Given the description of an element on the screen output the (x, y) to click on. 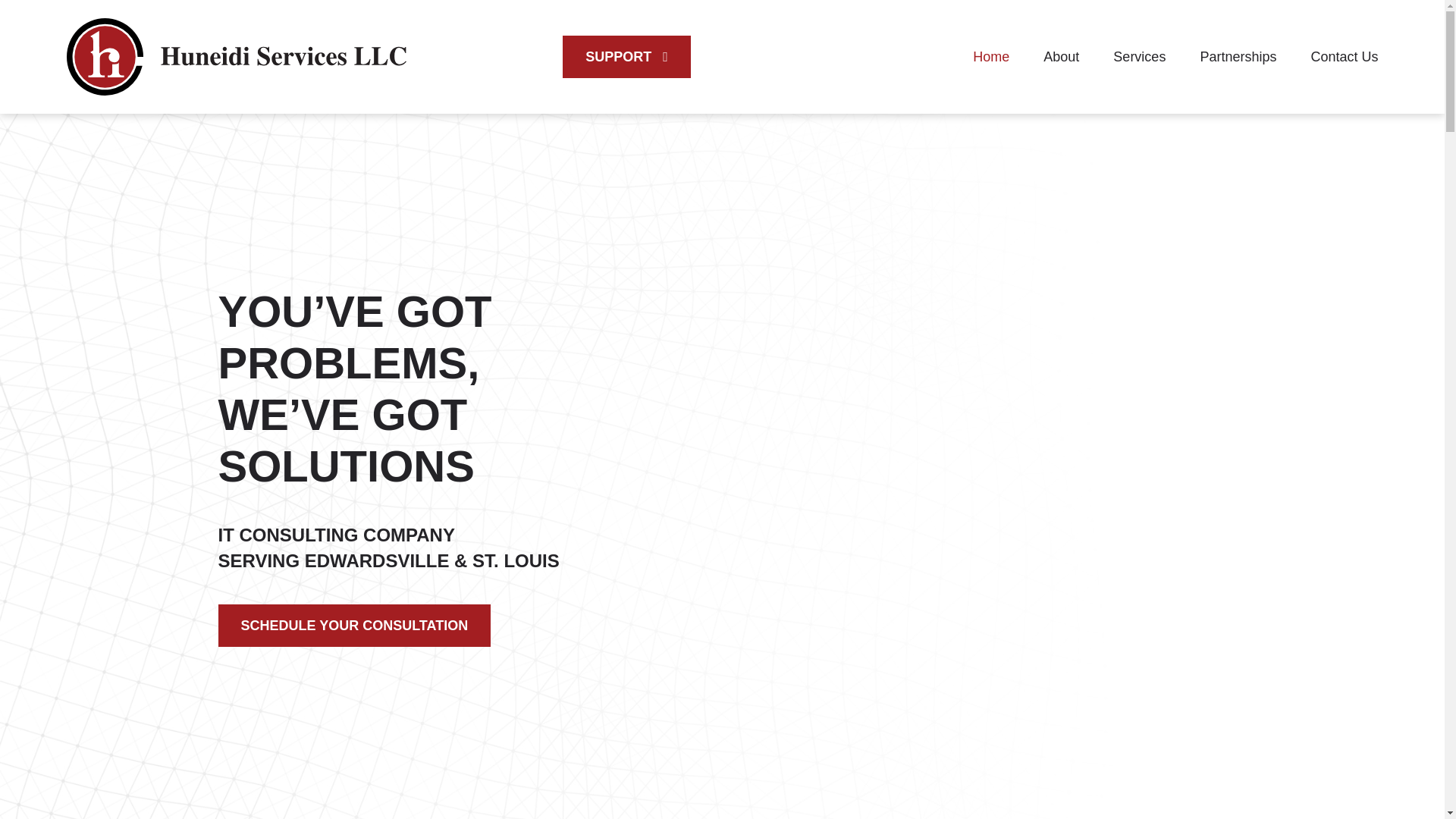
Services (1139, 56)
Contact Us (1343, 56)
About (1060, 56)
Partnerships (1237, 56)
Home (990, 56)
SCHEDULE YOUR CONSULTATION (355, 625)
SUPPORT (626, 56)
